Given the description of an element on the screen output the (x, y) to click on. 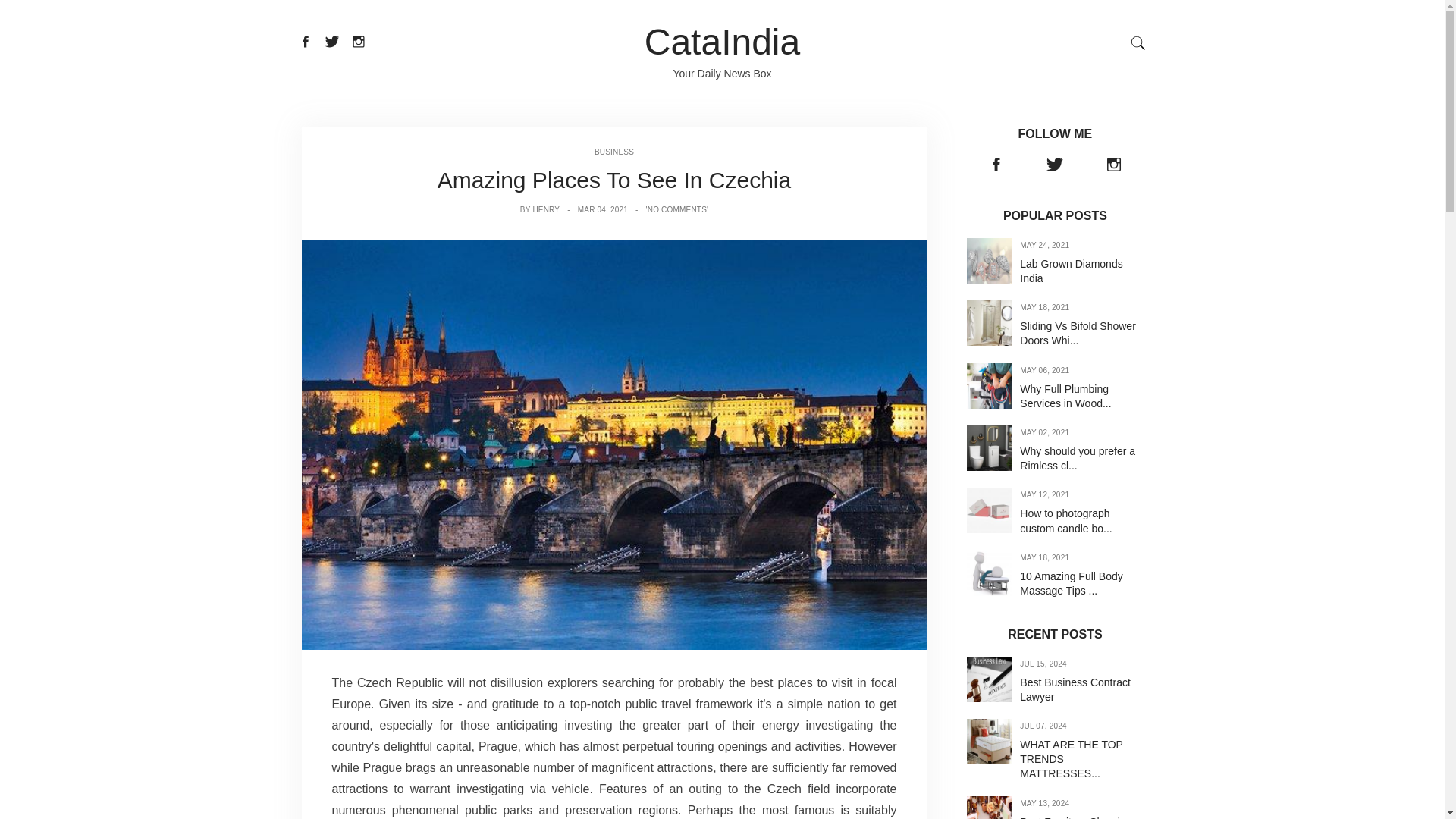
10 Amazing Full Body Massage Tips ... (1071, 583)
CataIndia (722, 42)
HENRY (545, 209)
CataIndia (722, 42)
Best Business Contract Lawyer (1075, 689)
How to photograph custom candle bo... (1066, 519)
Sliding Vs Bifold Shower Doors Whi... (1077, 333)
Why should you prefer a Rimless cl... (1077, 458)
Amazing Places To See In Czechia (614, 179)
BUSINESS (613, 152)
Why Full Plumbing Services in Wood... (1065, 396)
business (613, 152)
Lab Grown Diamonds India (1071, 270)
Henry (614, 443)
